Given the description of an element on the screen output the (x, y) to click on. 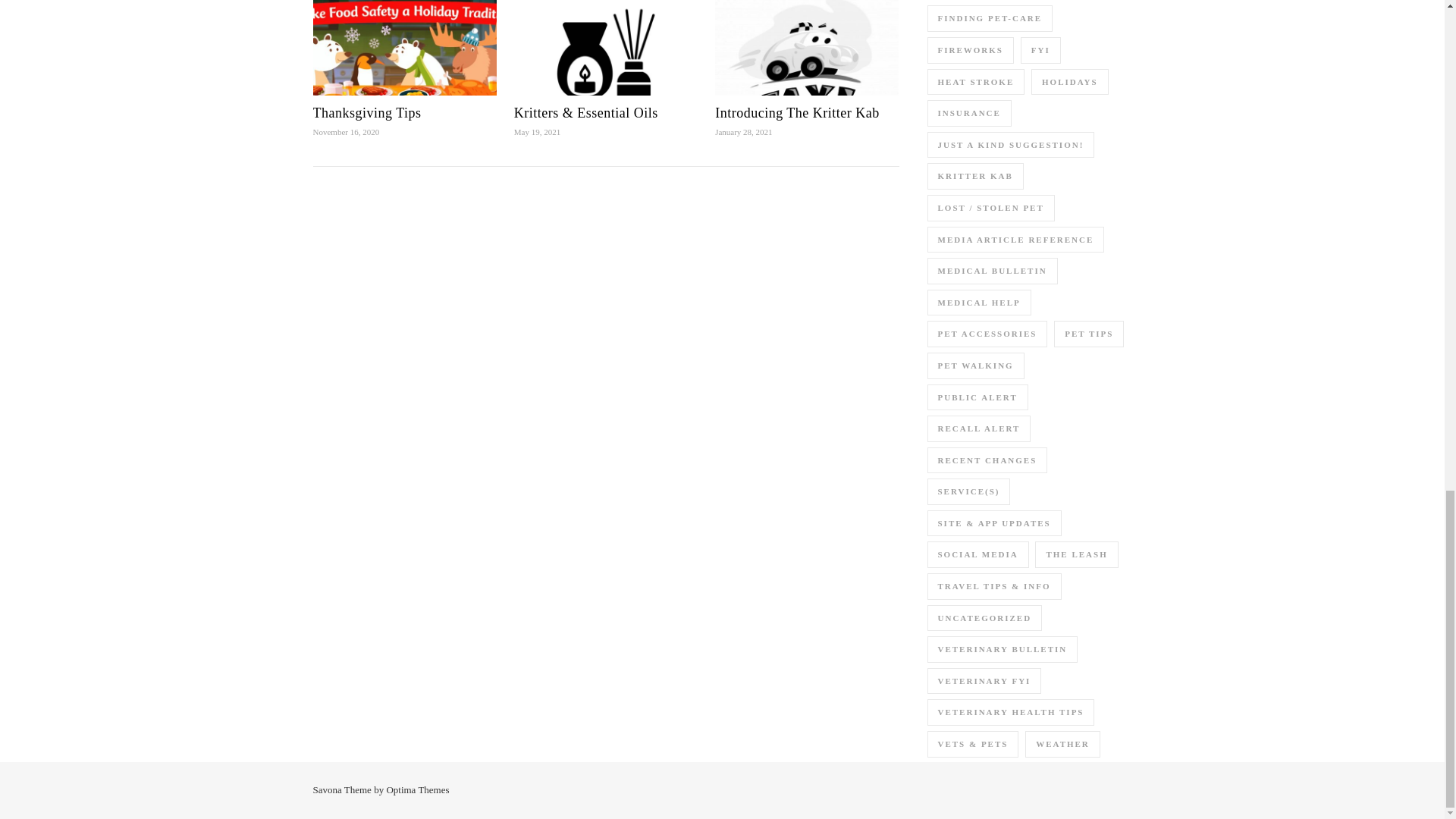
Thanksgiving Tips (366, 112)
Introducing The Kritter Kab (796, 112)
